Given the description of an element on the screen output the (x, y) to click on. 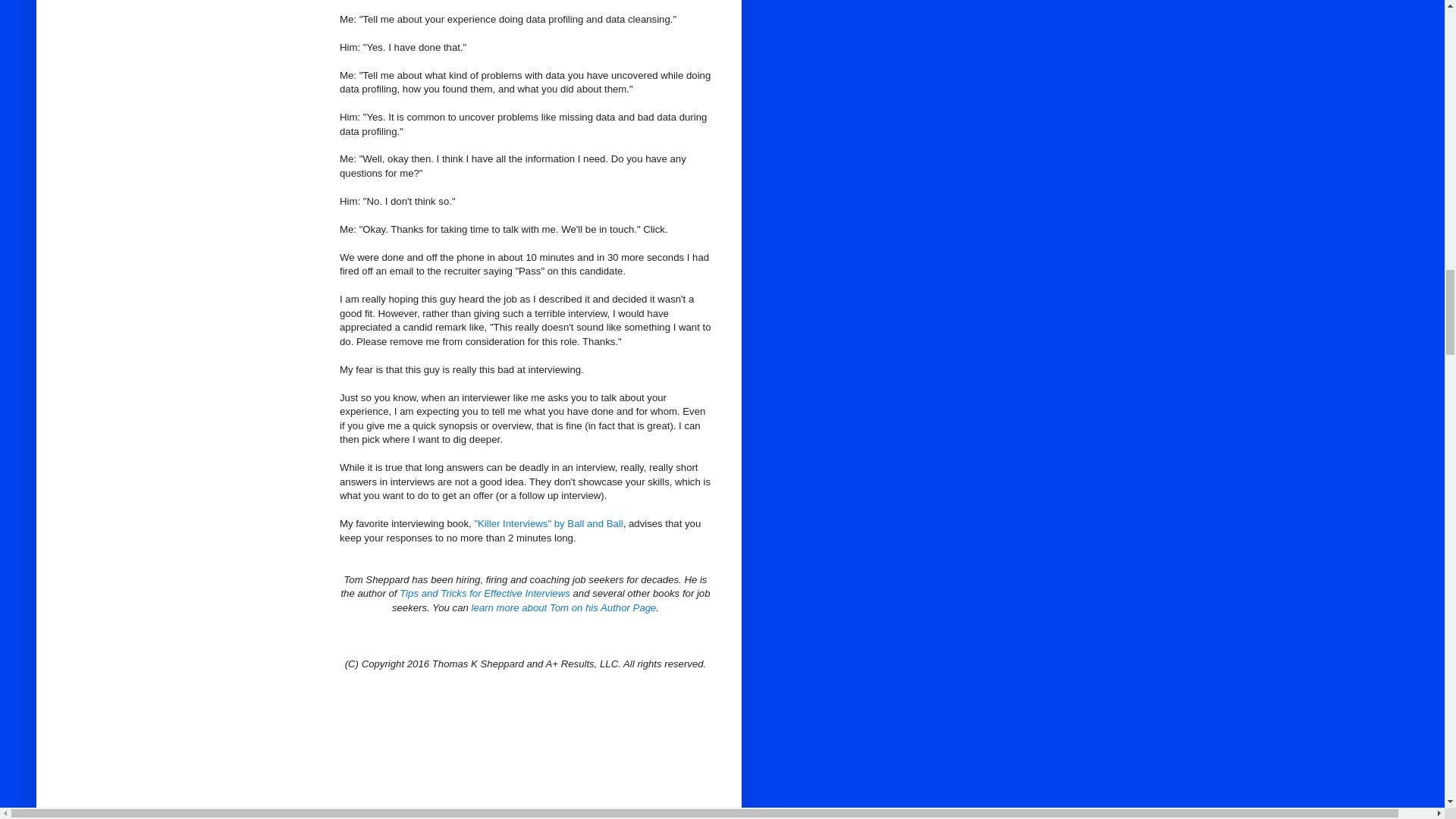
learn more about Tom on his Author Page (563, 607)
"Killer Interviews" by Ball and Ball (548, 523)
Tips and Tricks for Effective Interviews (484, 593)
